Given the description of an element on the screen output the (x, y) to click on. 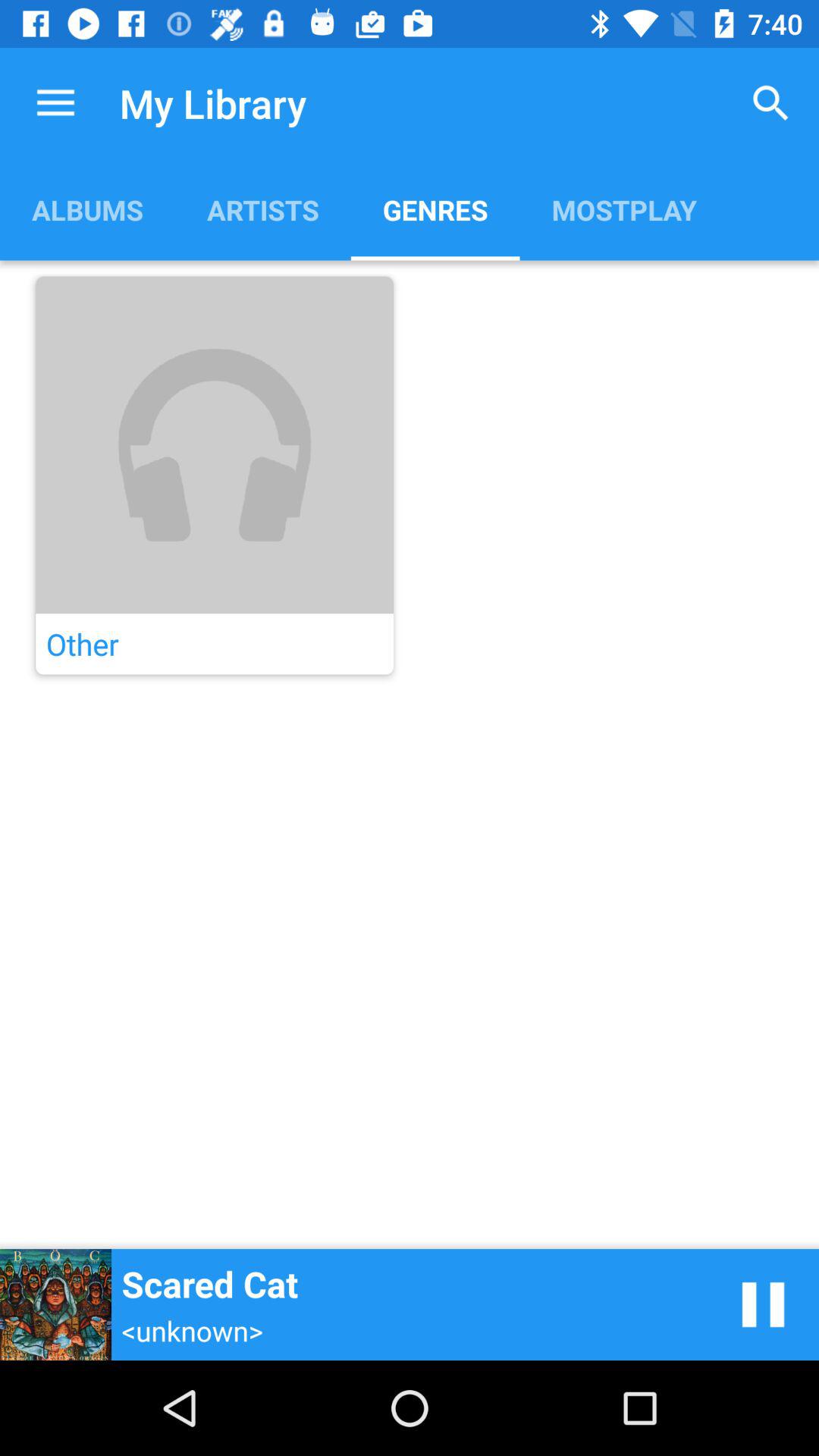
launch the icon to the left of artists (87, 209)
